Given the description of an element on the screen output the (x, y) to click on. 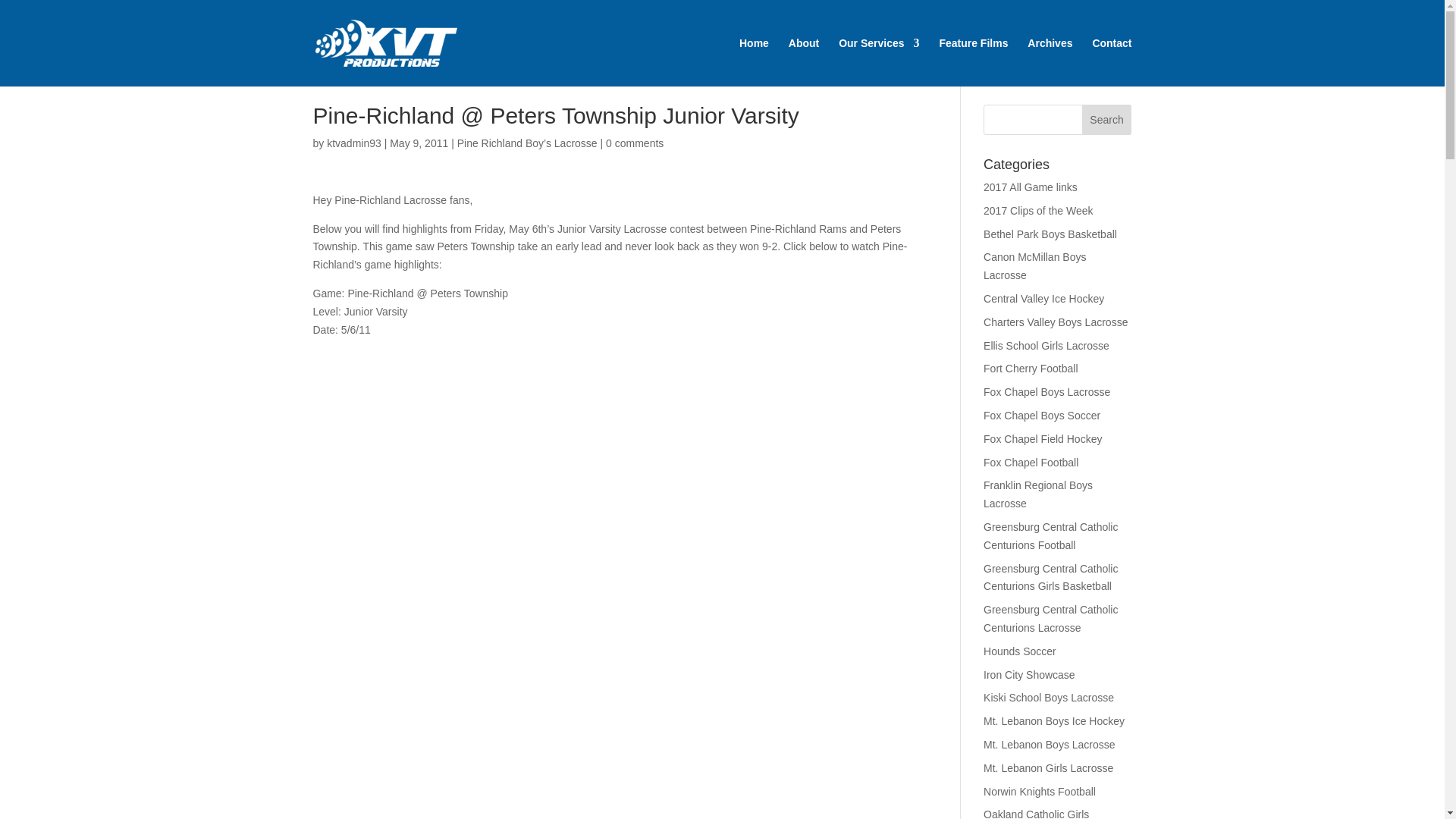
Fox Chapel Boys Lacrosse (1046, 391)
Charters Valley Boys Lacrosse (1055, 322)
Fox Chapel Boys Soccer (1042, 415)
0 comments (634, 143)
Search (1106, 119)
Canon McMillan Boys Lacrosse (1035, 265)
2017 Clips of the Week (1038, 210)
Fort Cherry Football (1030, 368)
Our Services (878, 61)
Search (1106, 119)
